Given the description of an element on the screen output the (x, y) to click on. 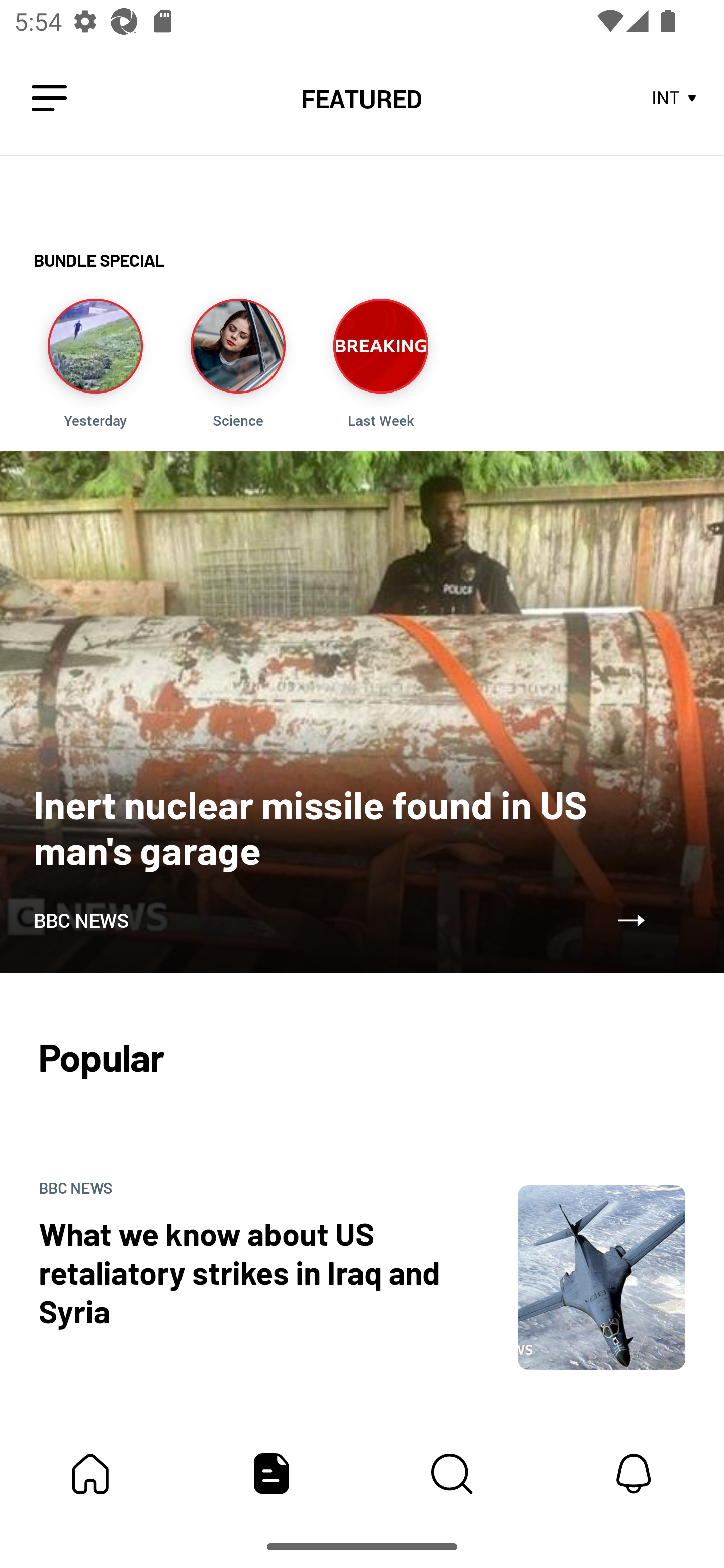
INT Store Area (674, 98)
Leading Icon (49, 98)
Story Image Yesterday (94, 363)
Story Image Science (237, 363)
Story Image Last Week (380, 363)
My Bundle (90, 1473)
Content Store (452, 1473)
Notifications (633, 1473)
